Given the description of an element on the screen output the (x, y) to click on. 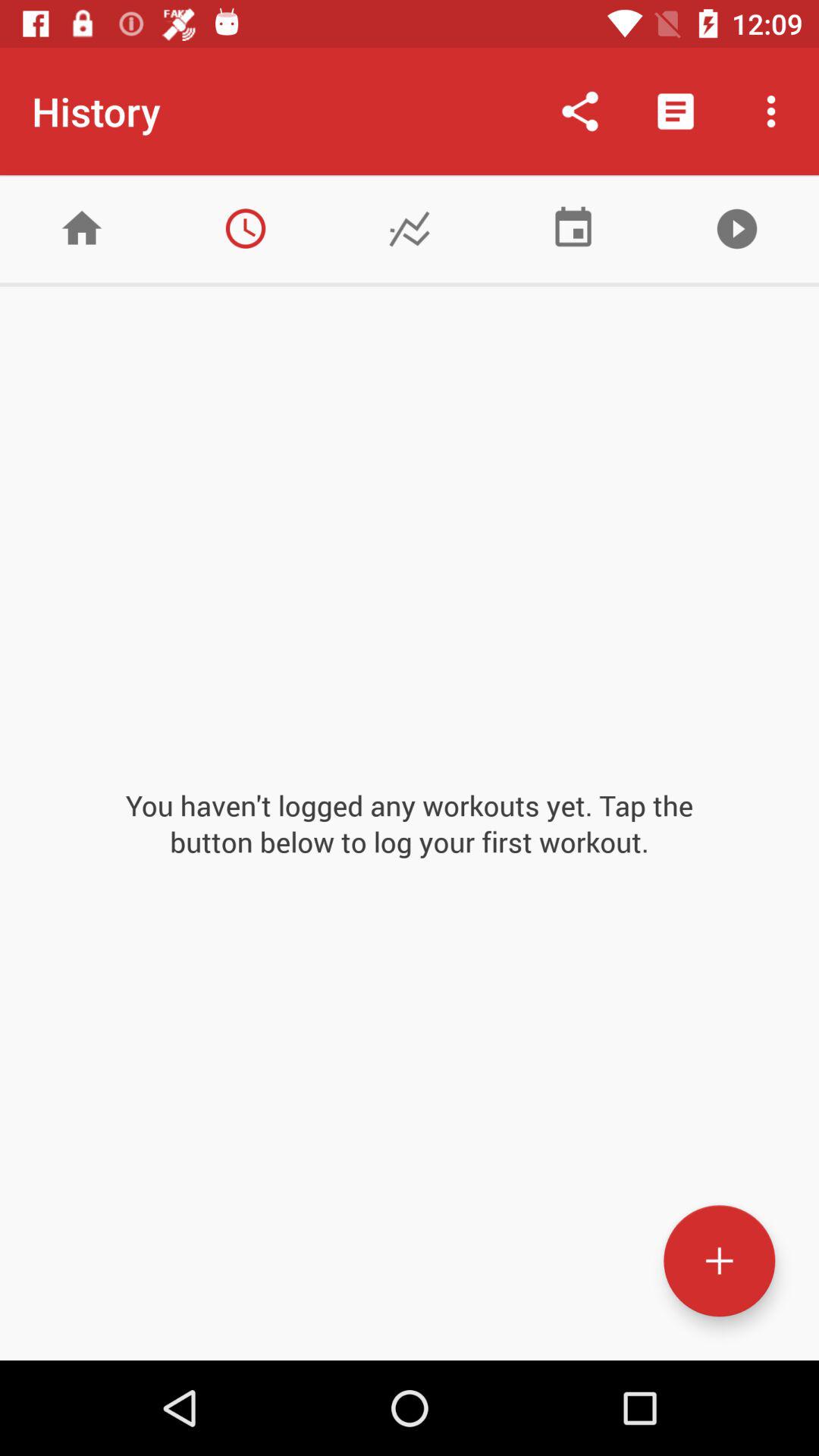
turn on the item at the bottom right corner (719, 1260)
